Given the description of an element on the screen output the (x, y) to click on. 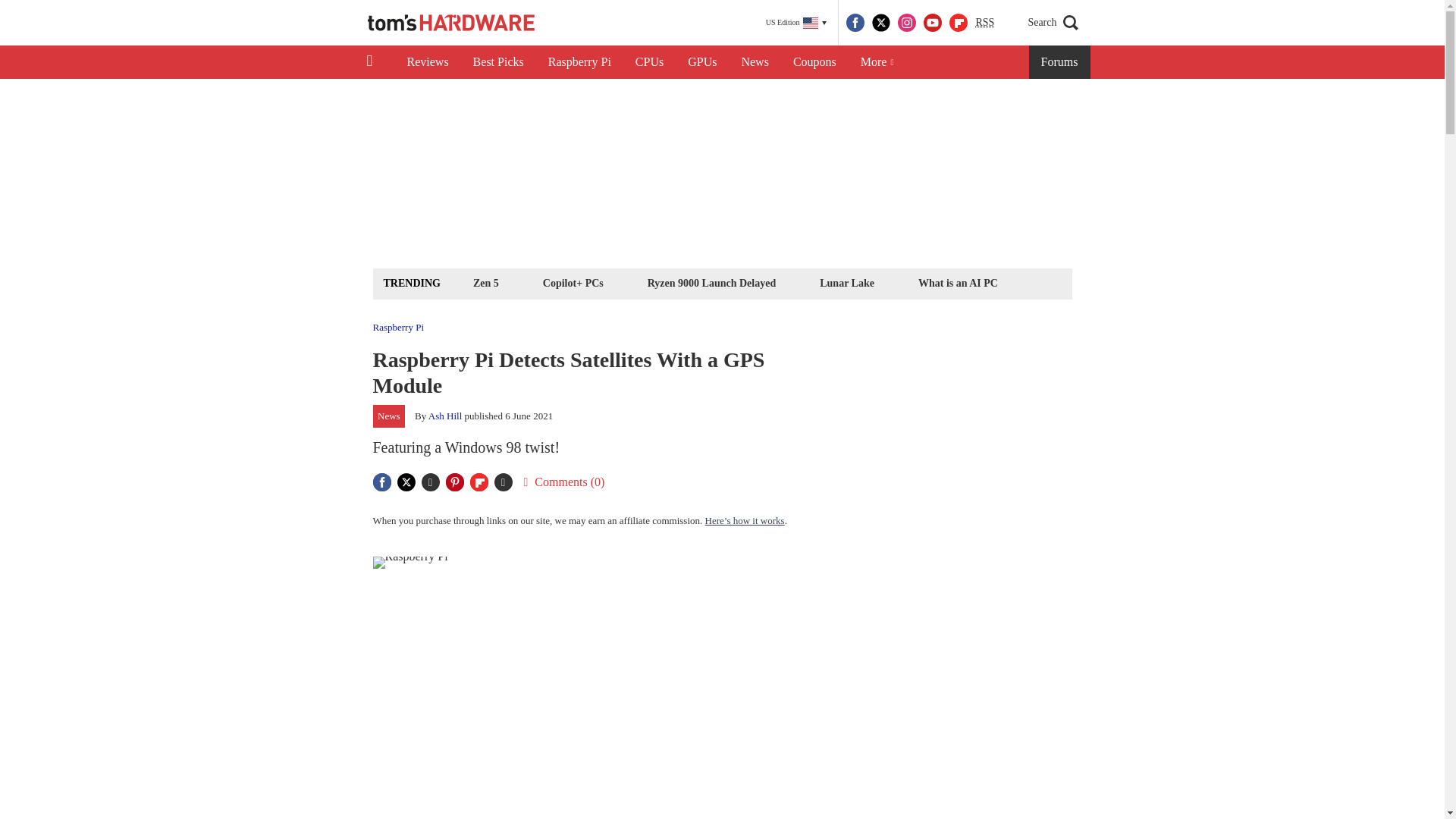
Coupons (814, 61)
News (754, 61)
GPUs (702, 61)
Zen 5 (485, 282)
Forums (1059, 61)
Raspberry Pi (579, 61)
Reviews (427, 61)
US Edition (796, 22)
CPUs (649, 61)
RSS (984, 22)
Best Picks (498, 61)
Really Simple Syndication (984, 21)
